Given the description of an element on the screen output the (x, y) to click on. 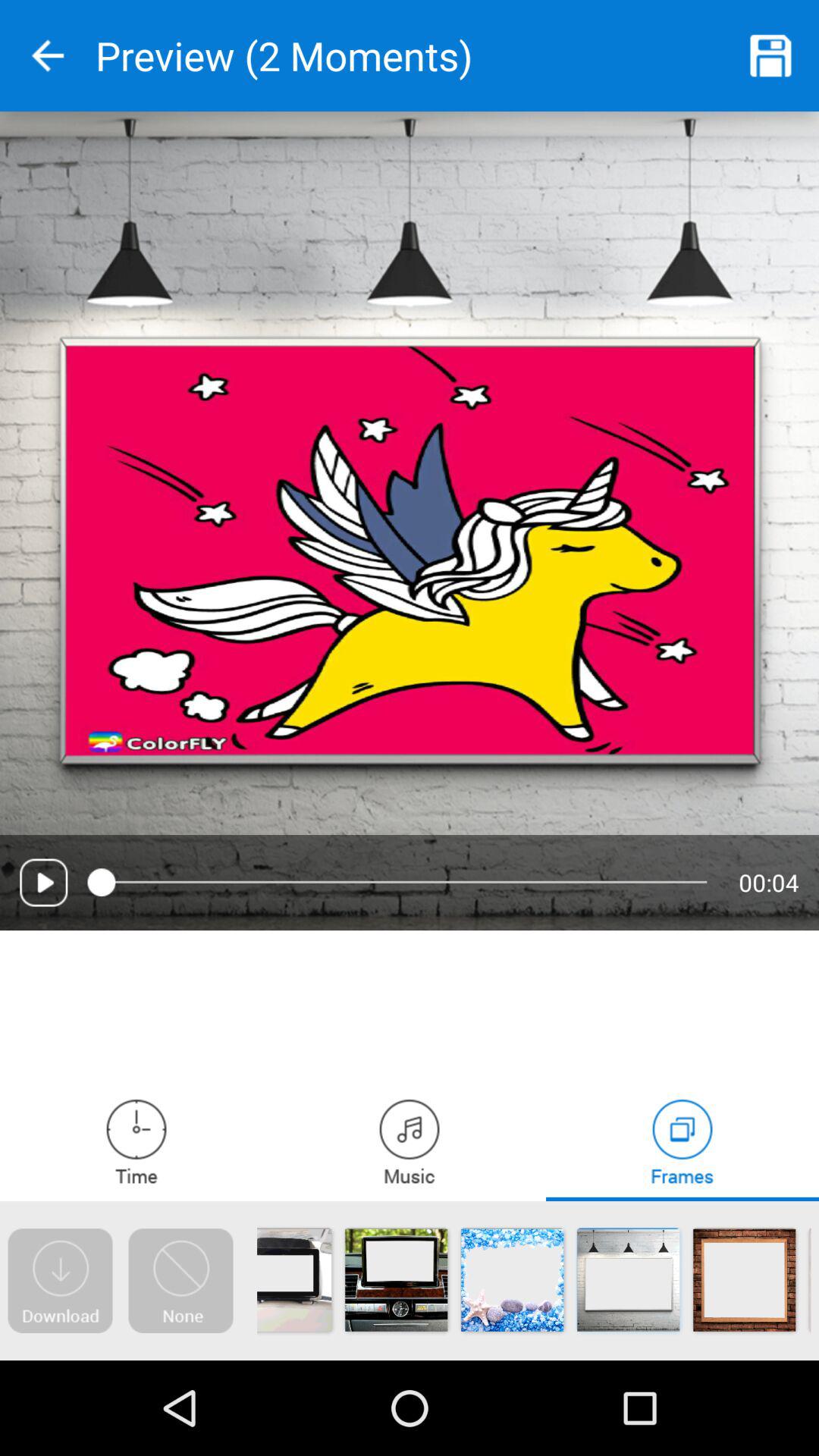
music player (409, 1141)
